Given the description of an element on the screen output the (x, y) to click on. 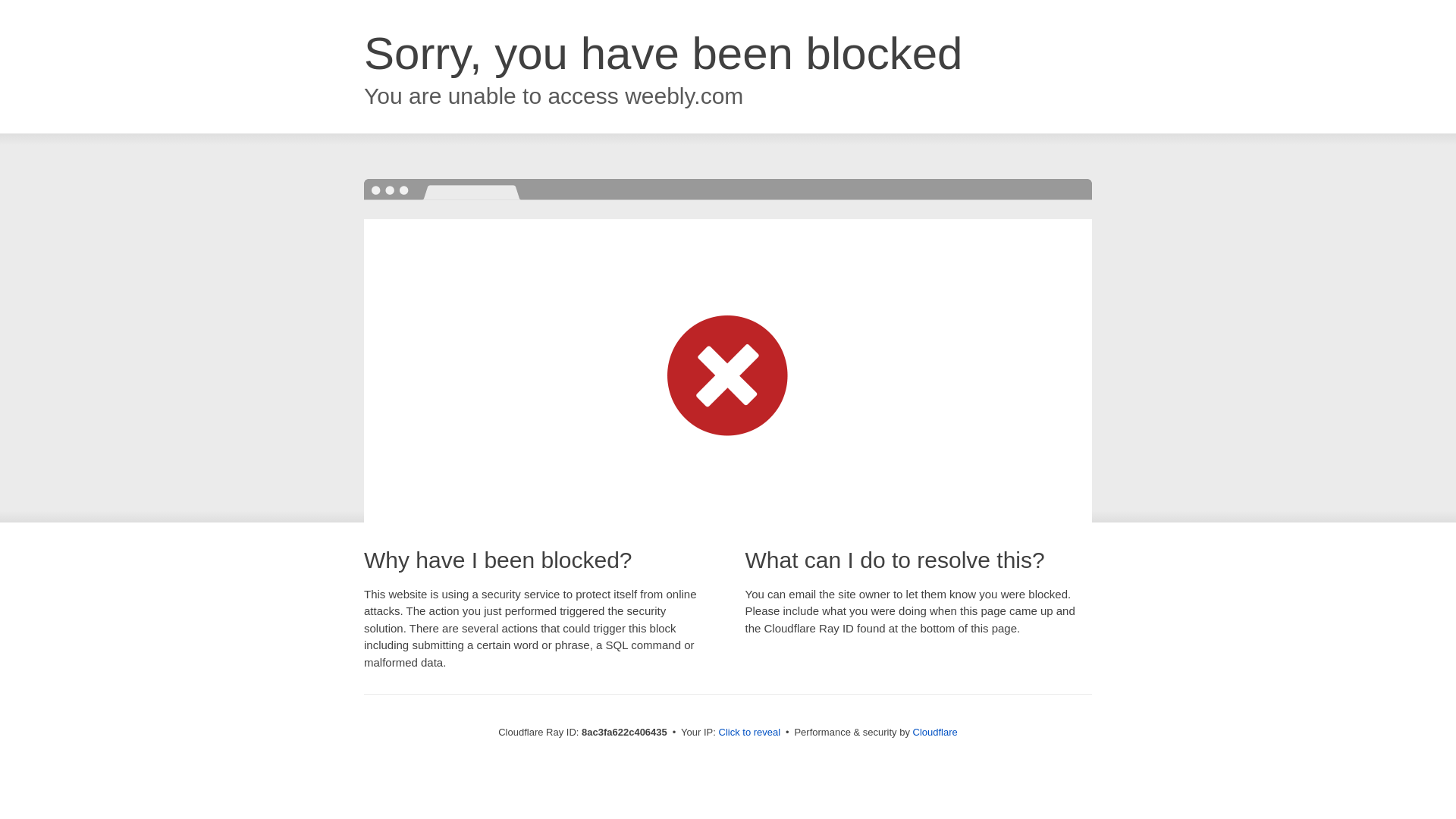
Cloudflare (935, 731)
Click to reveal (749, 732)
